Given the description of an element on the screen output the (x, y) to click on. 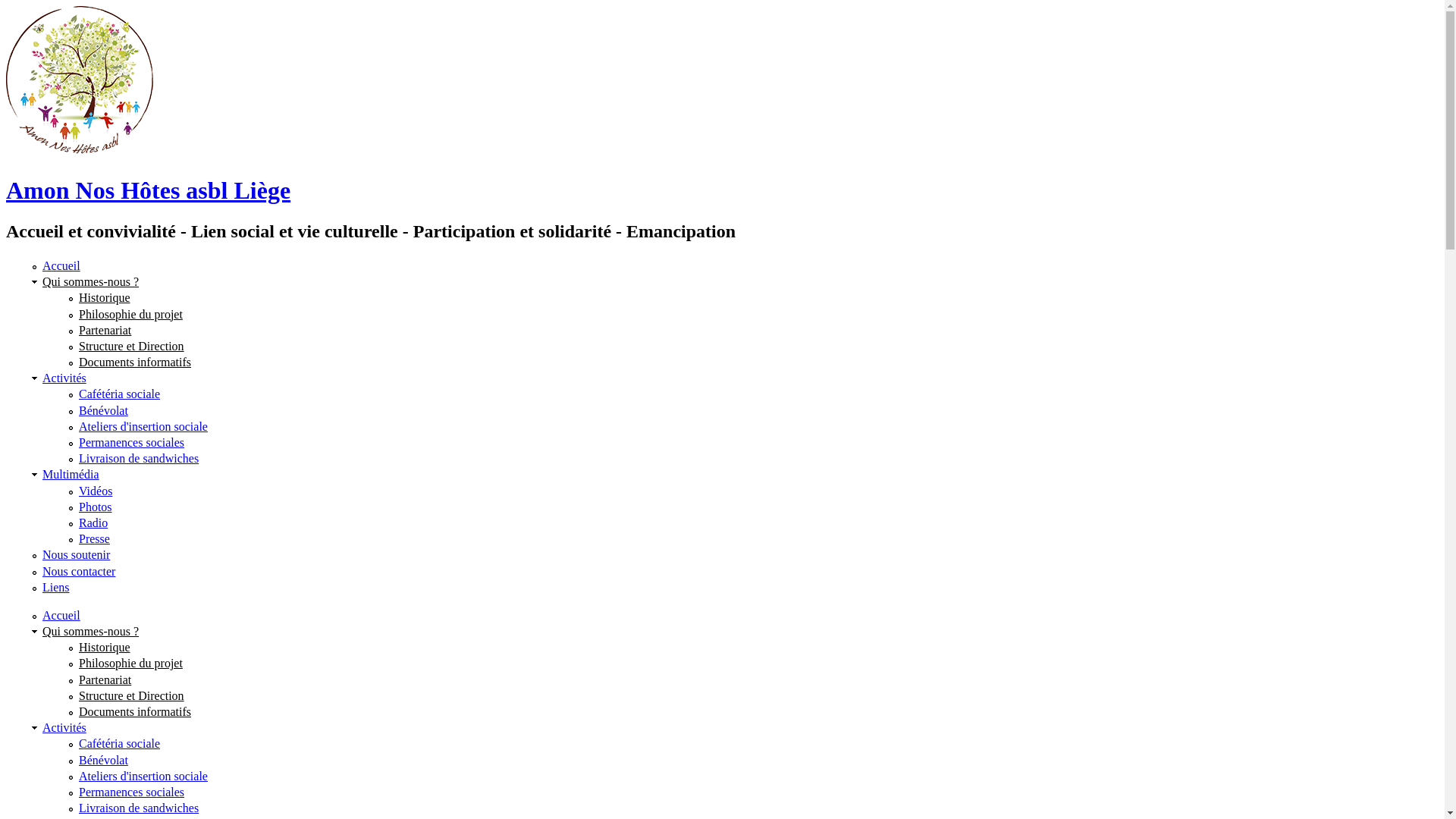
Partenariat Element type: text (104, 329)
Documents informatifs Element type: text (134, 711)
Livraison de sandwiches Element type: text (138, 457)
Qui sommes-nous ? Element type: text (90, 630)
Photos Element type: text (95, 506)
Liens Element type: text (55, 586)
Qui sommes-nous ? Element type: text (90, 281)
Permanences sociales Element type: text (131, 791)
Nous contacter Element type: text (78, 570)
Accueil Element type: hover (79, 153)
Presse Element type: text (93, 538)
Partenariat Element type: text (104, 679)
Ateliers d'insertion sociale Element type: text (142, 426)
Structure et Direction Element type: text (131, 695)
Livraison de sandwiches Element type: text (138, 807)
Philosophie du projet Element type: text (130, 313)
Nous soutenir Element type: text (75, 554)
Accueil Element type: text (61, 265)
Historique Element type: text (104, 646)
Radio Element type: text (92, 522)
Accueil Element type: text (61, 614)
Historique Element type: text (104, 297)
Permanences sociales Element type: text (131, 442)
Documents informatifs Element type: text (134, 361)
Philosophie du projet Element type: text (130, 662)
Structure et Direction Element type: text (131, 345)
Ateliers d'insertion sociale Element type: text (142, 775)
